Given the description of an element on the screen output the (x, y) to click on. 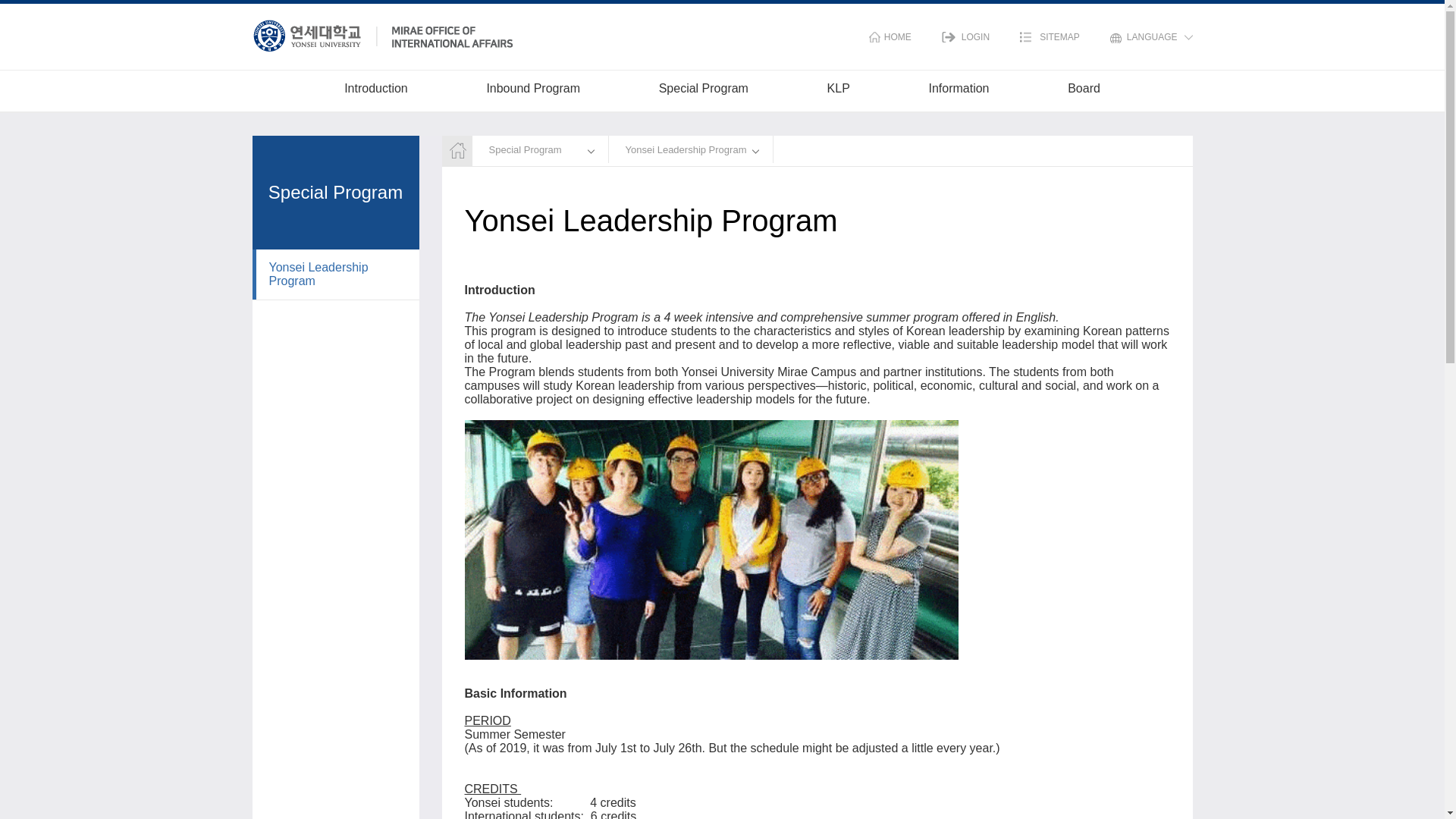
Special Program (703, 92)
Go to Home (890, 36)
Information (958, 92)
Introduction (375, 92)
KLP (838, 92)
Login (966, 36)
Inbound Program (532, 92)
Go to MIRAE Office of International Affairs (381, 32)
Go to Sitemap (1050, 36)
HOME (890, 36)
